Given the description of an element on the screen output the (x, y) to click on. 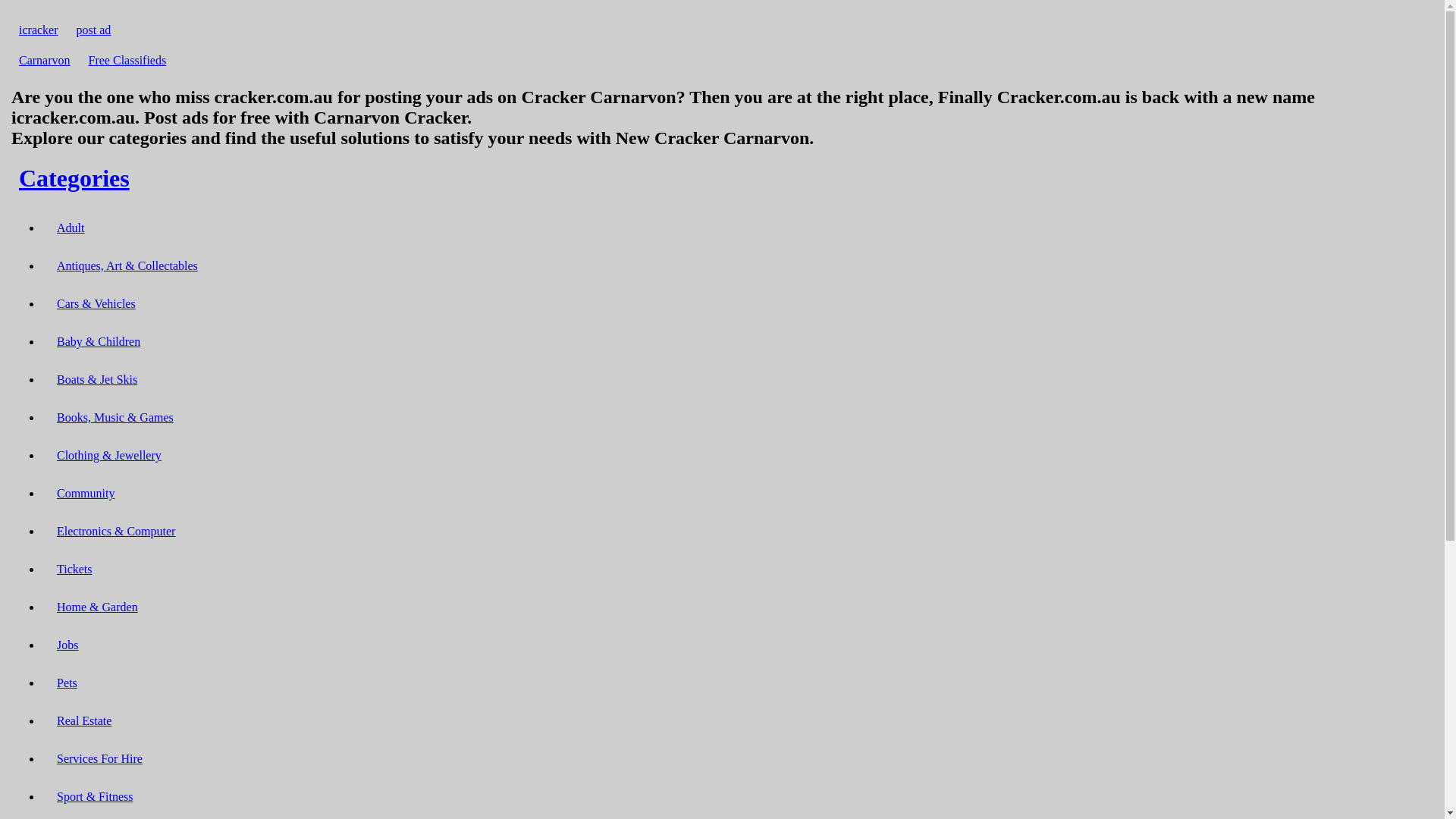
Home & Garden Element type: text (97, 607)
Adult Element type: text (70, 227)
post ad Element type: text (94, 30)
icracker Element type: text (38, 29)
Sport & Fitness Element type: text (94, 796)
Services For Hire Element type: text (99, 758)
Real Estate Element type: text (84, 720)
Cars & Vehicles Element type: text (96, 303)
Antiques, Art & Collectables Element type: text (127, 265)
Books, Music & Games Element type: text (115, 417)
Categories Element type: text (74, 177)
Boats & Jet Skis Element type: text (96, 379)
Baby & Children Element type: text (98, 341)
Jobs Element type: text (67, 644)
Pets Element type: text (66, 682)
Free Classifieds Element type: text (127, 60)
Carnarvon Element type: text (44, 60)
Community Element type: text (85, 493)
Tickets Element type: text (74, 569)
Clothing & Jewellery Element type: text (109, 455)
Electronics & Computer Element type: text (115, 531)
